Given the description of an element on the screen output the (x, y) to click on. 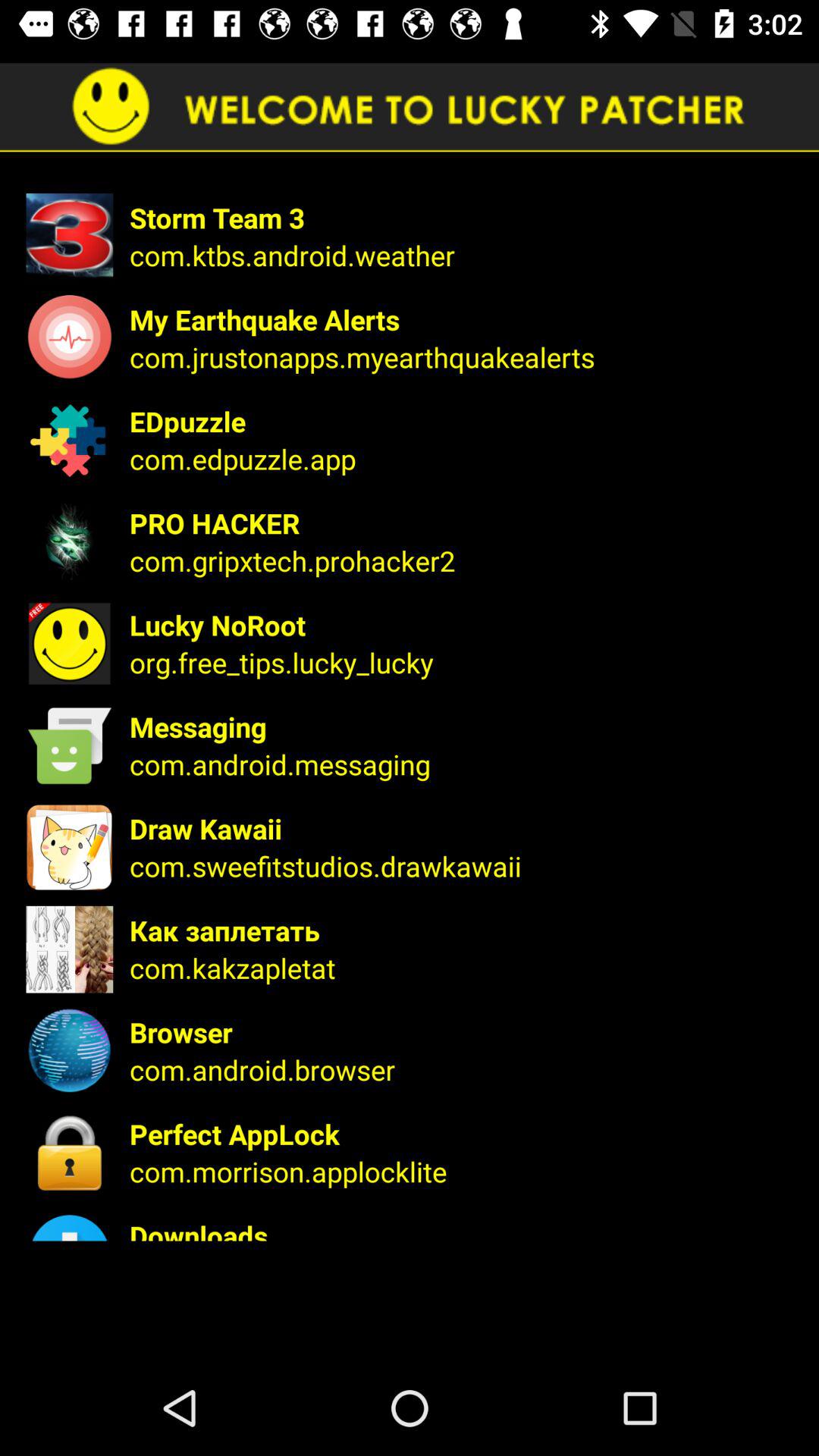
launch my earthquake alerts icon (464, 319)
